Given the description of an element on the screen output the (x, y) to click on. 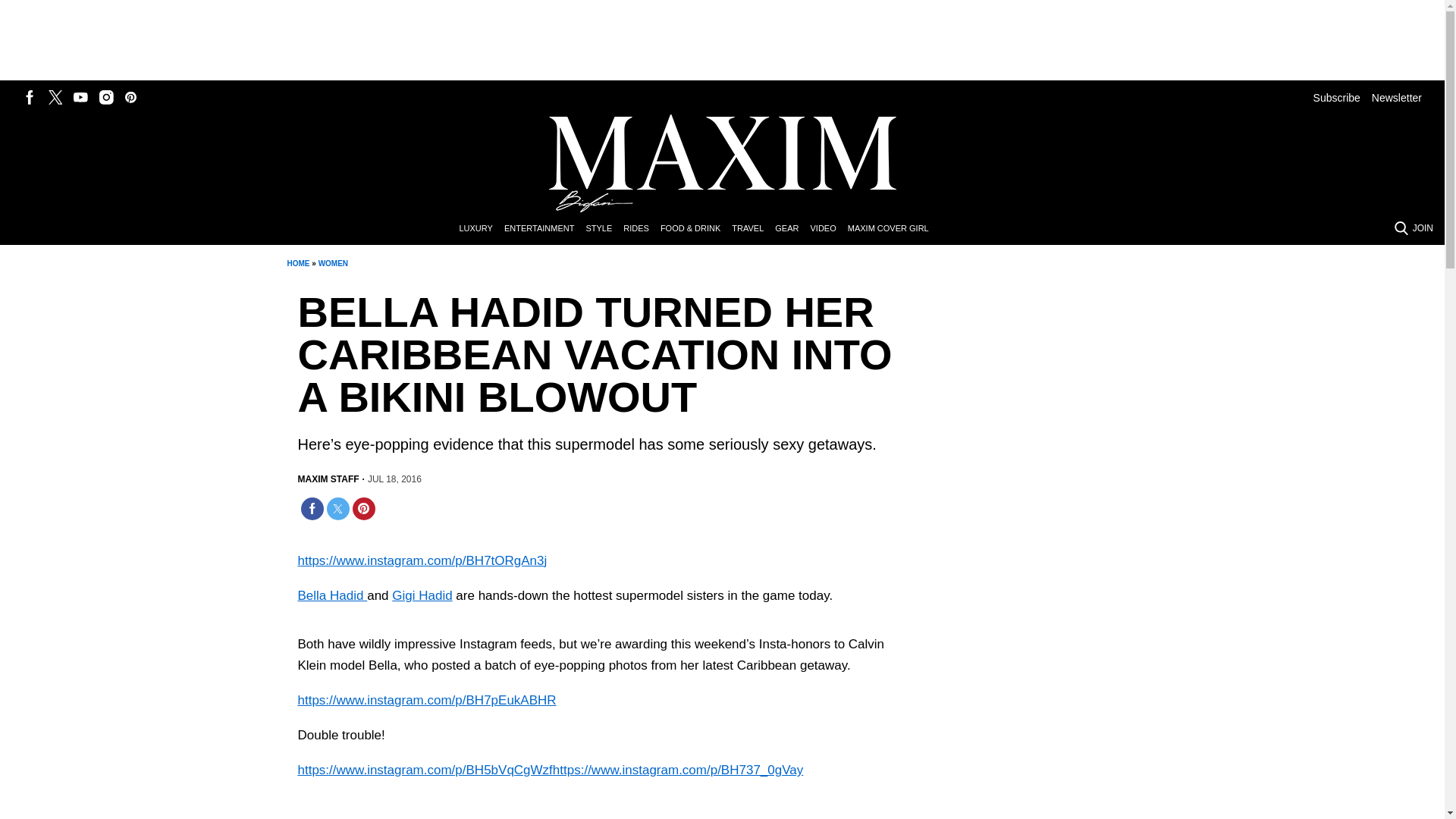
TRAVEL (753, 228)
Share on Facebook (311, 508)
Newsletter (1396, 97)
RIDES (642, 228)
WOMEN (332, 263)
MAXIM STAFF (327, 479)
LUXURY (480, 228)
Follow us on Twitter (55, 97)
Share on Twitter (337, 508)
GEAR (791, 228)
